Given the description of an element on the screen output the (x, y) to click on. 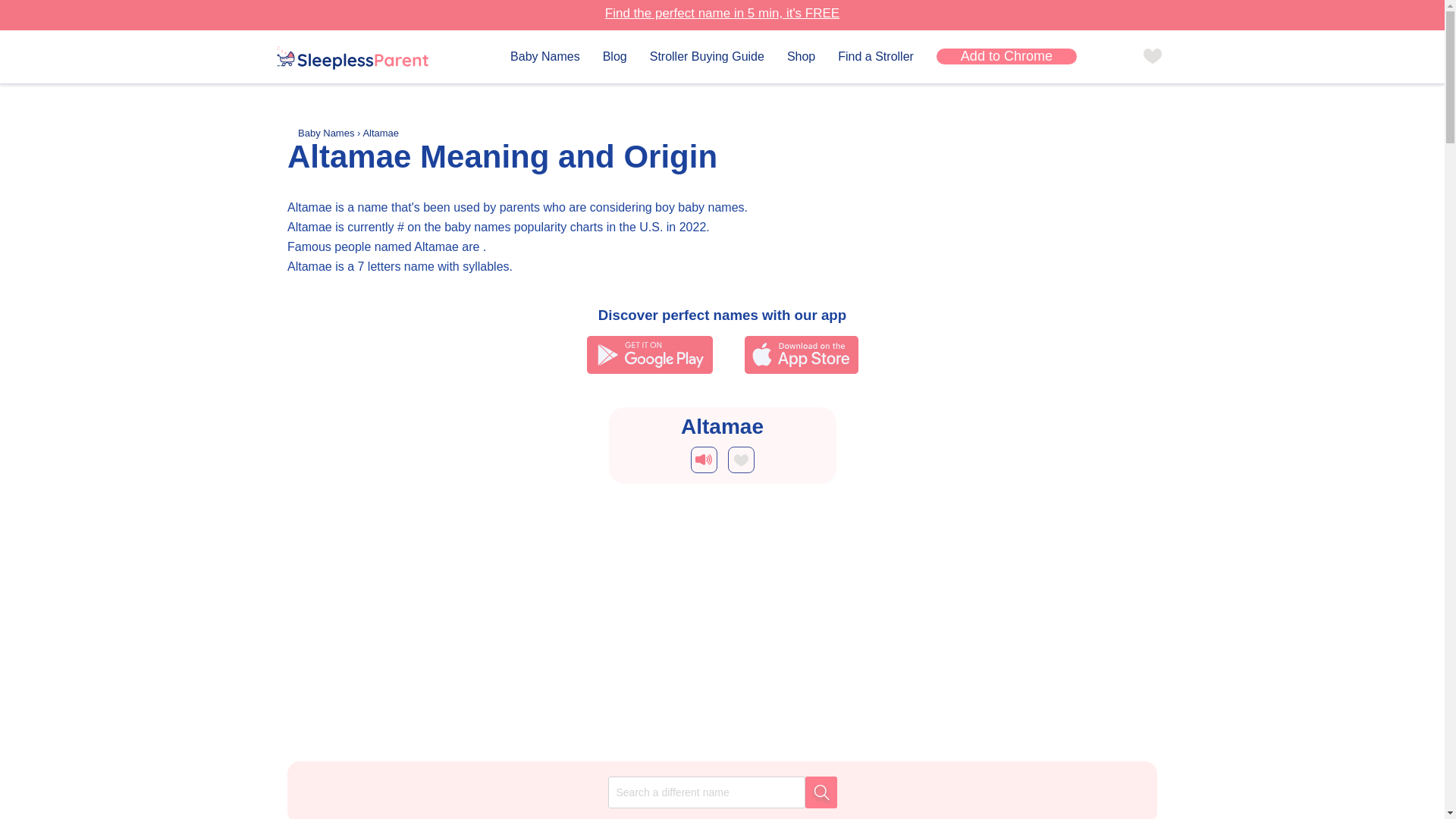
sleeplessparent.com (352, 57)
SleeplessParent ios app (801, 354)
Shop (801, 56)
Stroller Buying Guide (706, 56)
Add to Chrome (1006, 56)
Baby Names (545, 56)
Add to Chrome (1006, 56)
Baby Names (327, 132)
Blog (614, 56)
Altamae (380, 132)
Find a Stroller (876, 56)
SleeplessParent android app (649, 354)
home page (352, 58)
